Given the description of an element on the screen output the (x, y) to click on. 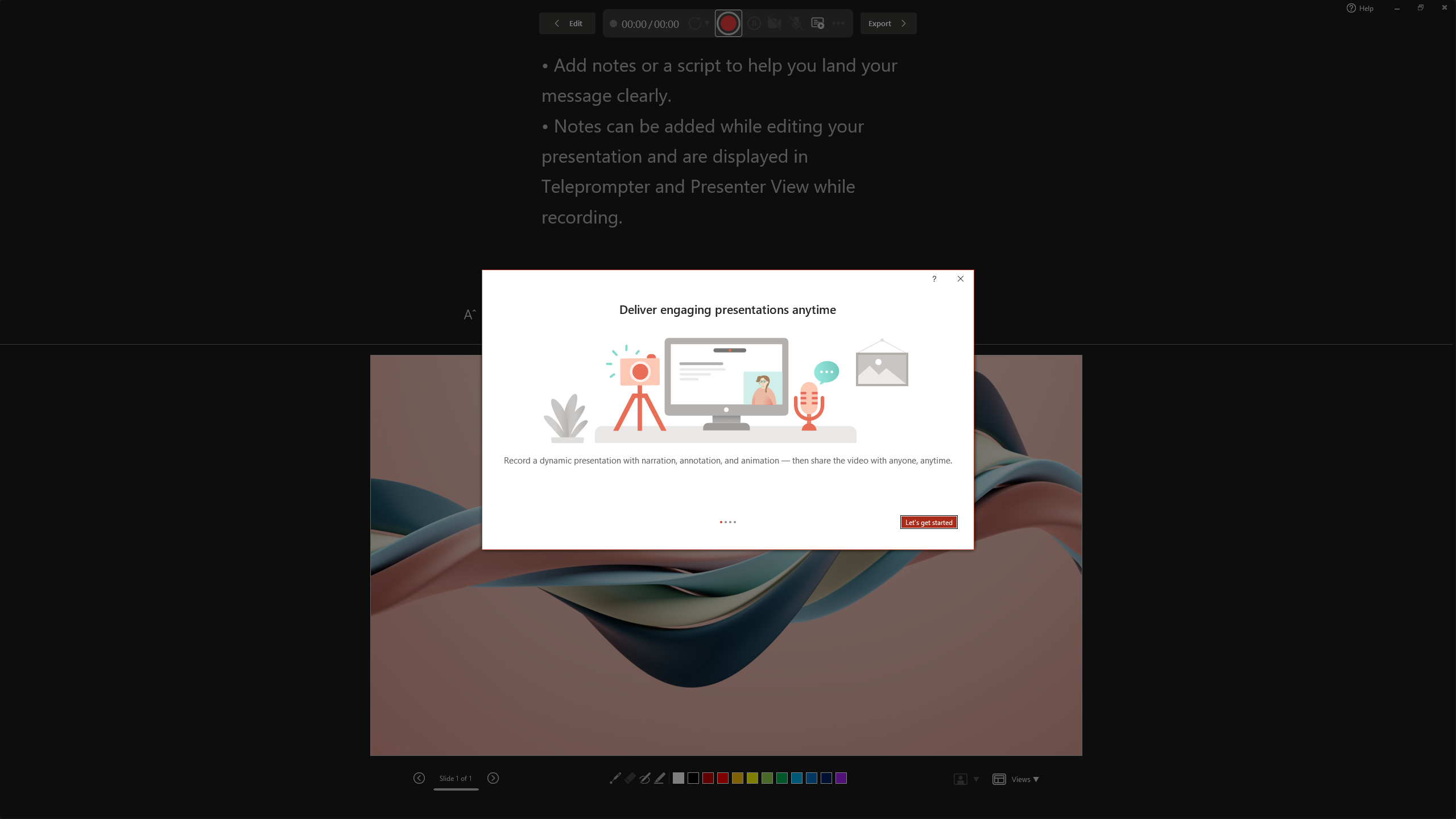
Droplet (931, 56)
Berlin (720, 56)
Zoom 160% (1430, 790)
A desktop recording audio and video. (727, 386)
Ion Boardroom (350, 56)
